Given the description of an element on the screen output the (x, y) to click on. 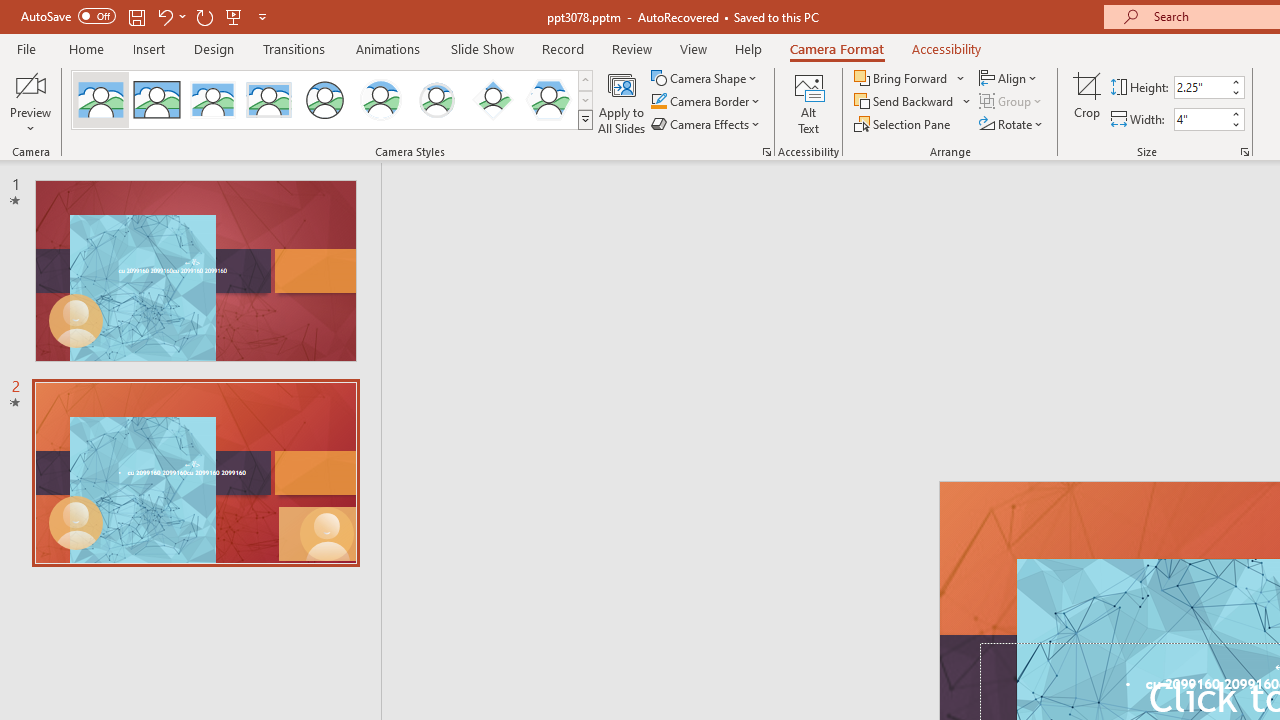
Group (1012, 101)
Less (1235, 124)
Enable Camera Preview (30, 84)
Camera Border (706, 101)
Camera Effects (706, 124)
Soft Edge Circle (436, 100)
Format Object... (766, 151)
